Given the description of an element on the screen output the (x, y) to click on. 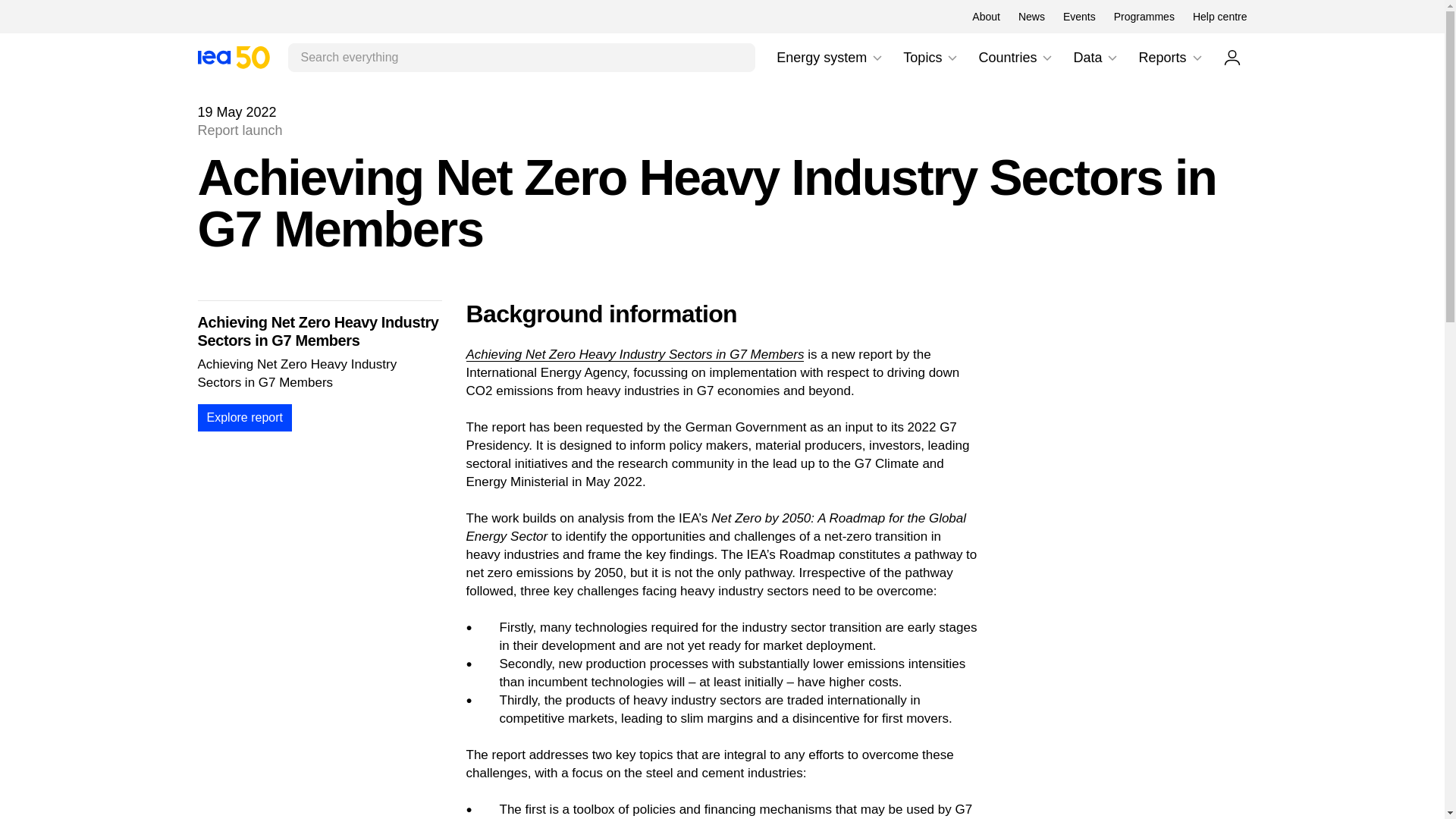
User Profile (1231, 57)
Events (1079, 16)
Chevron down (931, 57)
News (1112, 57)
IEA (1031, 16)
Chevron down (232, 56)
Chevron down (951, 57)
Programmes (1196, 57)
Chevron down (1143, 16)
Chevron down (1046, 57)
IEA (830, 57)
About (877, 57)
Help centre (232, 56)
